Given the description of an element on the screen output the (x, y) to click on. 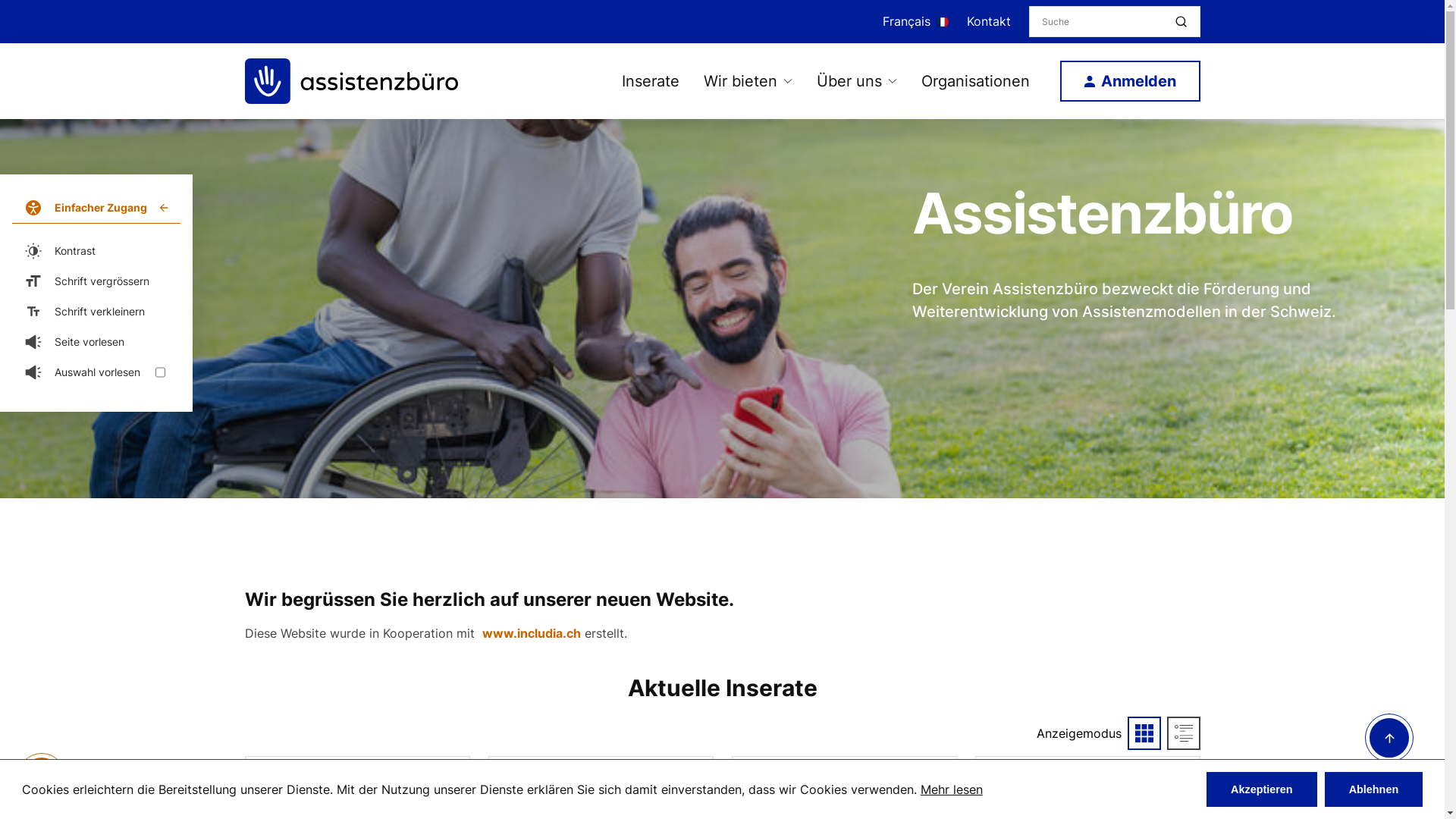
Nach oben Element type: text (1389, 757)
Kontakt Element type: text (988, 21)
Akzeptieren Element type: text (1261, 788)
Listen-Ansicht Element type: hover (1182, 732)
Kontrast Element type: text (95, 250)
Anmelden Element type: text (1130, 80)
Inserate Element type: text (650, 80)
Suche Element type: hover (1180, 21)
Ablehnen Element type: text (1373, 788)
Mehr lesen Element type: text (951, 789)
Organisationen Element type: text (974, 80)
Schrift verkleinern Element type: text (95, 311)
Wir bieten Element type: text (740, 80)
Kachel-Ansicht Element type: hover (1143, 732)
Seite vorlesen Element type: text (95, 341)
www.includia.ch Element type: text (531, 632)
Auswahl vorlesen Element type: text (95, 372)
